Given the description of an element on the screen output the (x, y) to click on. 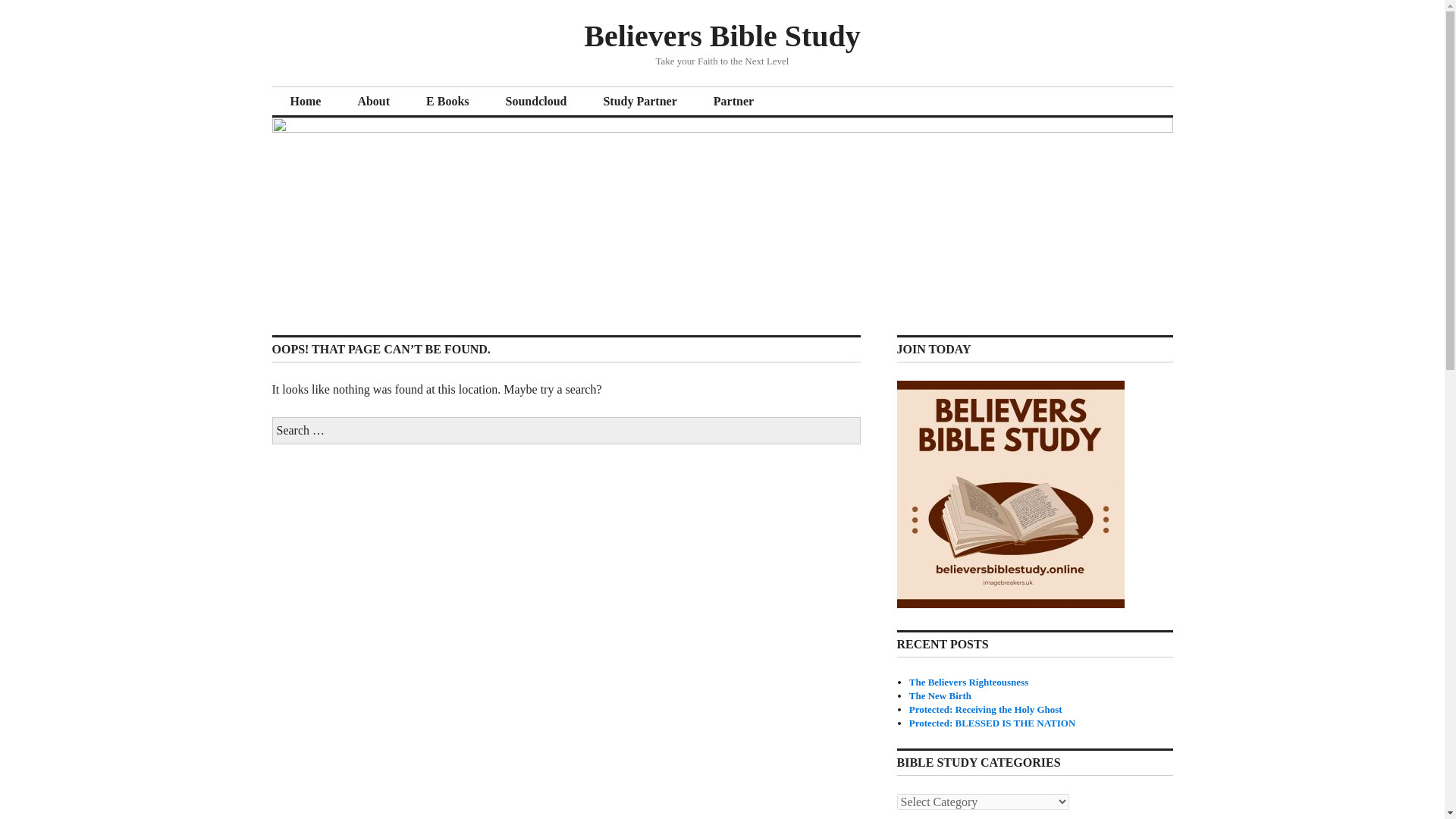
Soundcloud (536, 101)
Believers Bible Study (721, 35)
The Believers Righteousness (967, 681)
The New Birth (939, 695)
Study Partner (639, 101)
Partner (733, 101)
Search (8, 4)
E Books (446, 101)
Protected: Receiving the Holy Ghost (985, 708)
